Given the description of an element on the screen output the (x, y) to click on. 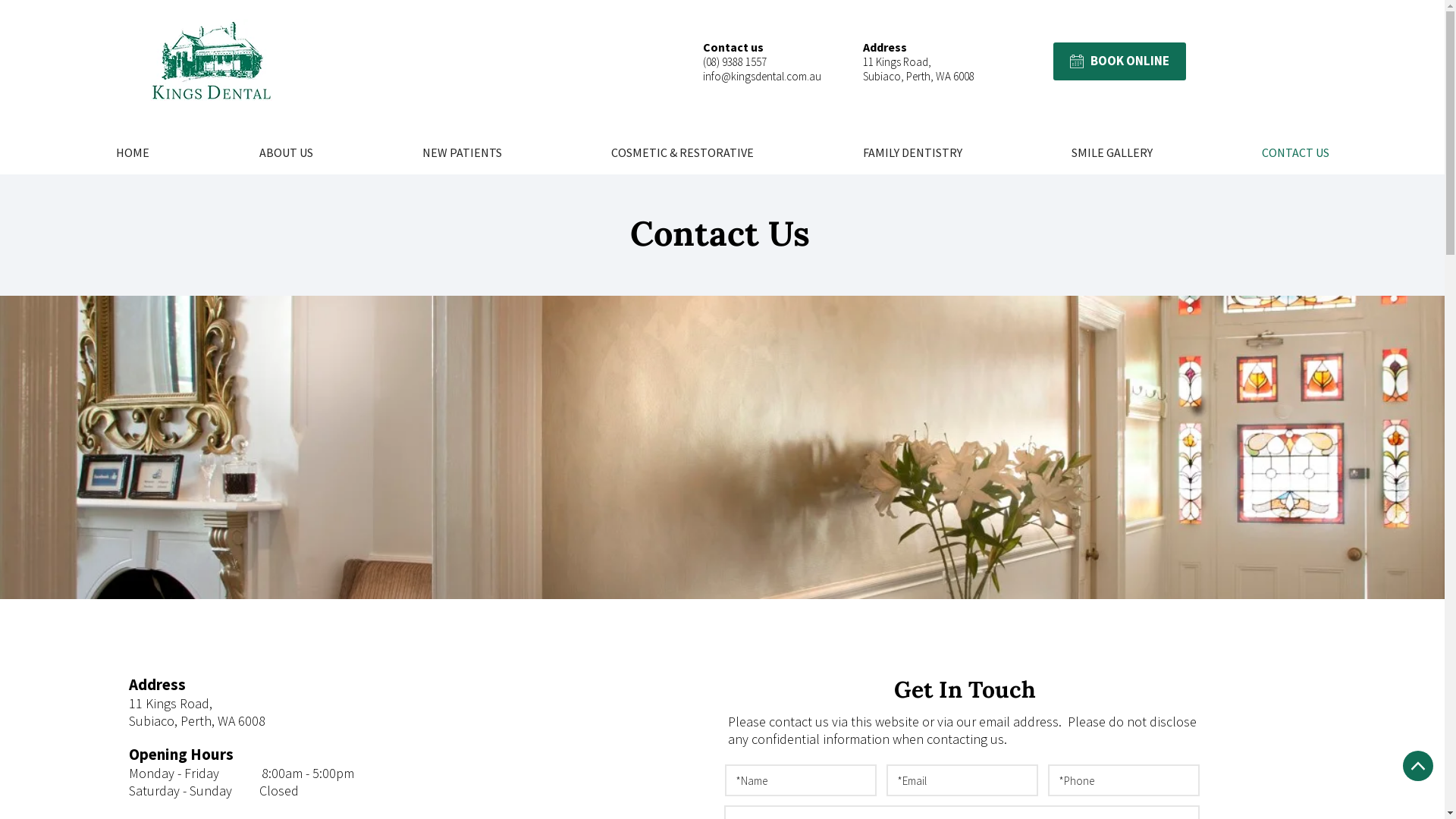
ABOUT US Element type: text (285, 152)
BOOK ONLINE Element type: text (1119, 61)
Back To Top Element type: hover (1417, 765)
COSMETIC & RESTORATIVE Element type: text (682, 152)
SMILE GALLERY Element type: text (1111, 152)
(08) 9388 1557 Element type: text (734, 61)
CONTACT US Element type: text (1295, 152)
HOME Element type: text (131, 152)
FAMILY DENTISTRY Element type: text (912, 152)
info@kingsdental.com.au Element type: text (761, 76)
NEW PATIENTS Element type: text (461, 152)
